Given the description of an element on the screen output the (x, y) to click on. 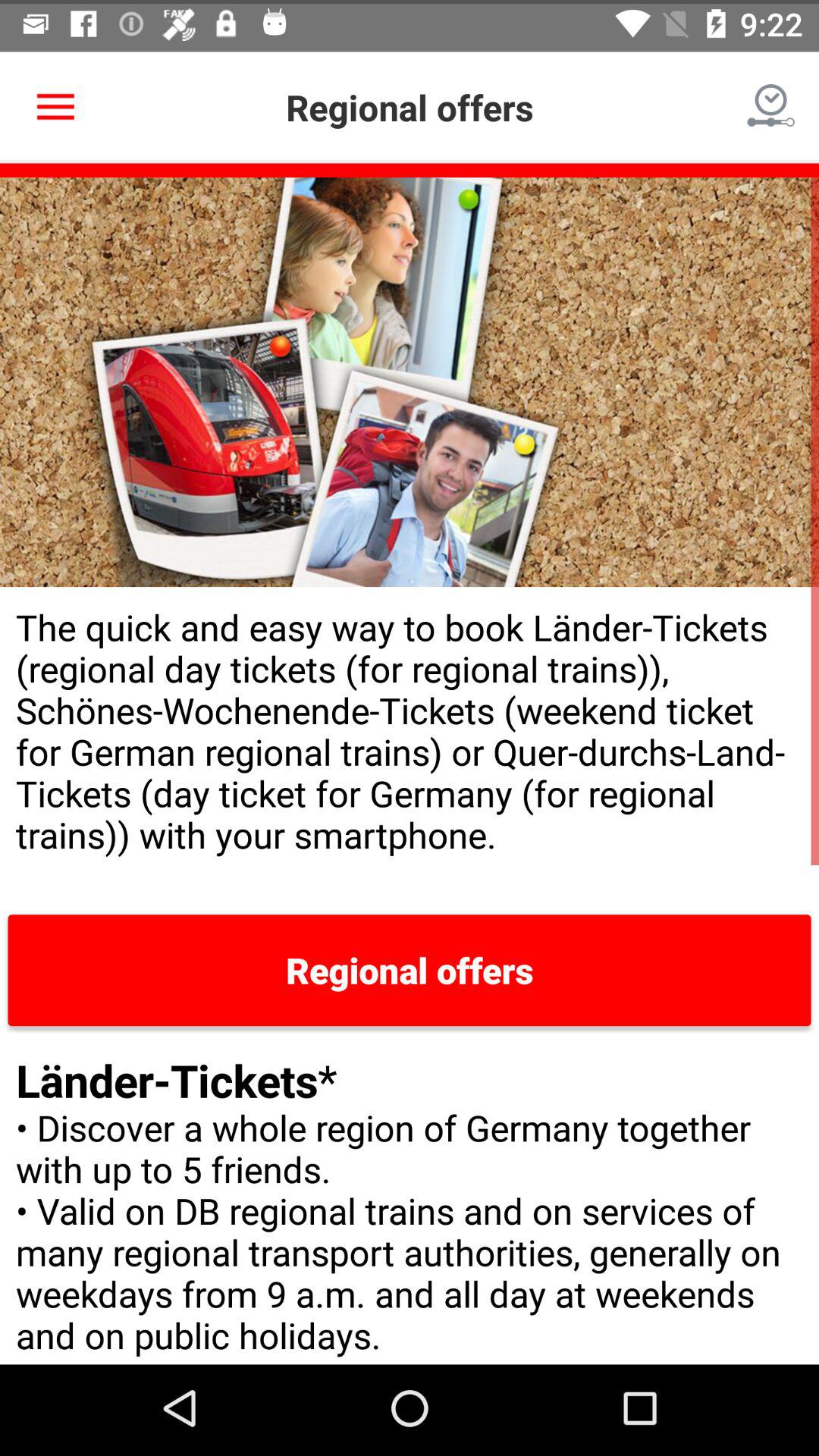
press item next to regional offers item (771, 103)
